Given the description of an element on the screen output the (x, y) to click on. 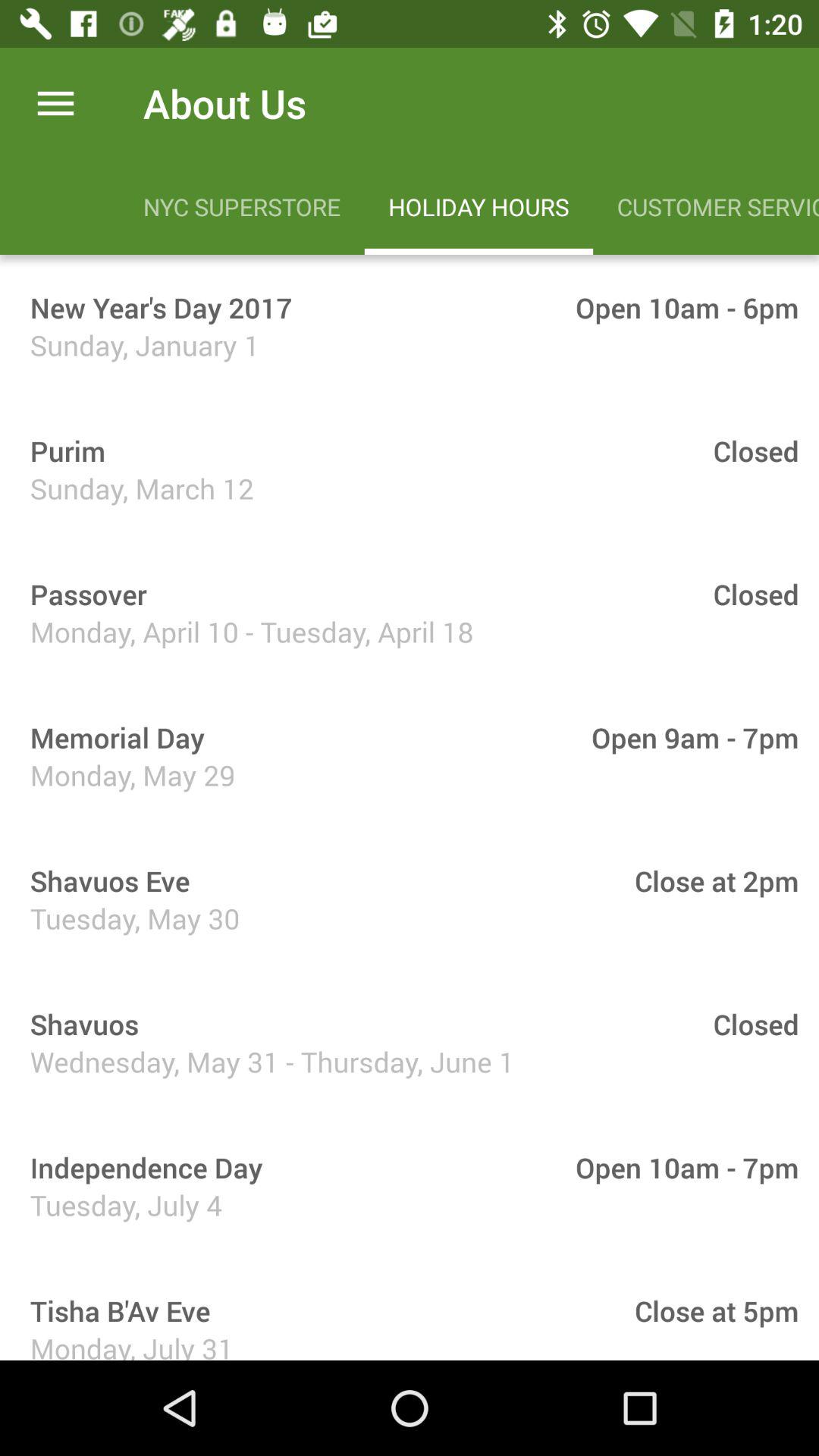
turn on the icon above tuesday, july 4 icon (140, 1167)
